Given the description of an element on the screen output the (x, y) to click on. 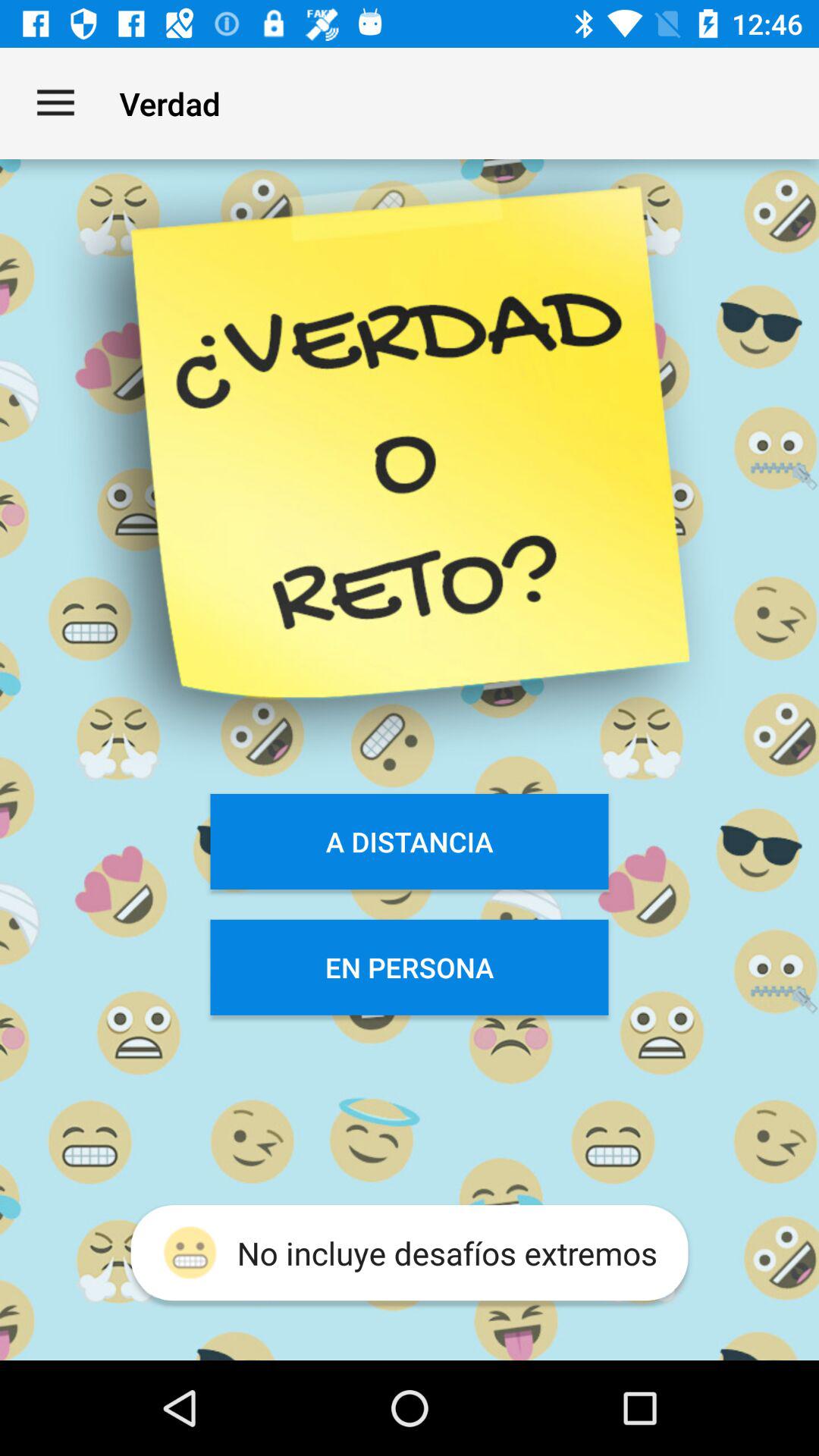
flip until a distancia icon (409, 841)
